Given the description of an element on the screen output the (x, y) to click on. 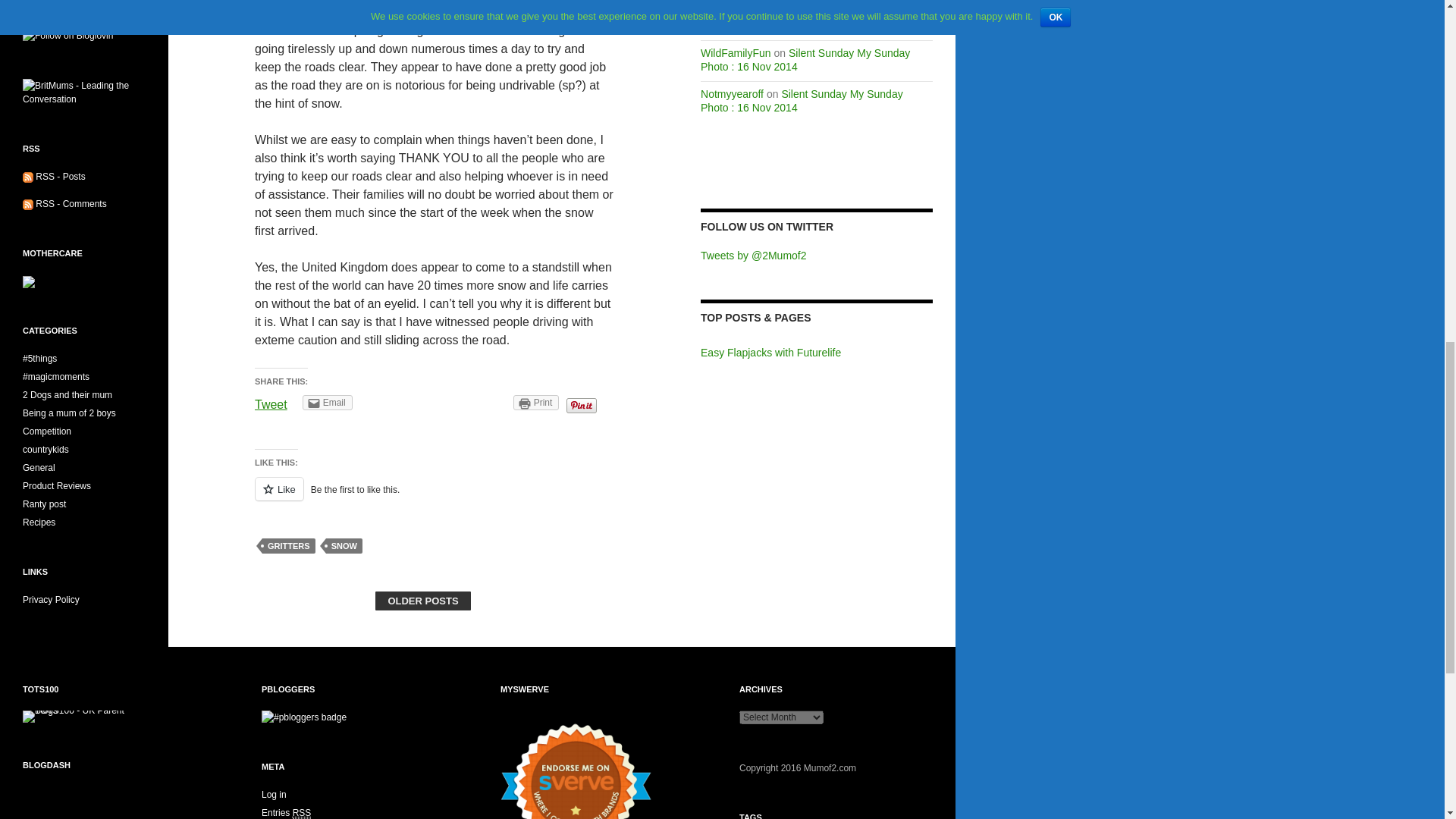
Print (536, 402)
Share on Tumblr (481, 402)
Product Reviews (56, 485)
TOTS 100 - UK Parent Blogs (85, 715)
Subscribe to Comments (70, 204)
Click to print (536, 402)
Subscribe to Posts (28, 176)
Email (327, 402)
Subscribe to Posts (59, 176)
Subscribe to Comments (28, 204)
Follow Mumof2.com on Bloglovin (68, 34)
Tweet (270, 404)
BritMums - Leading the Conversation (84, 91)
